Given the description of an element on the screen output the (x, y) to click on. 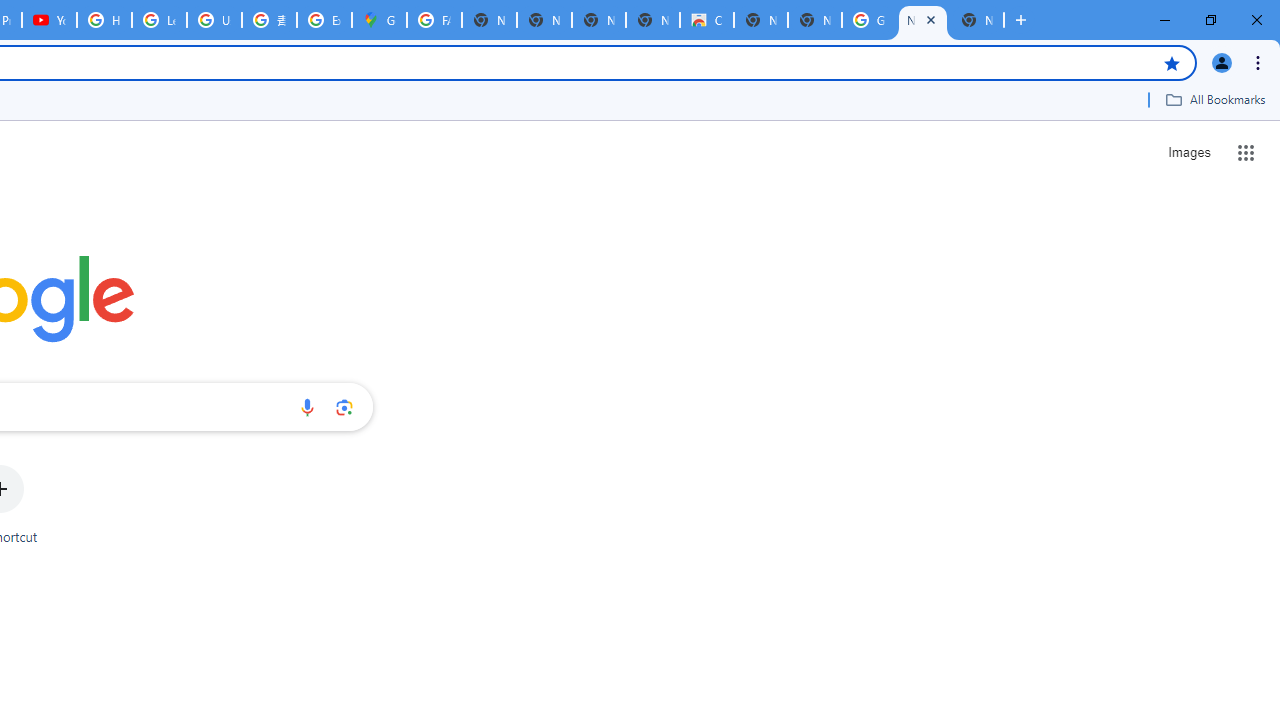
Google Images (868, 20)
Google Maps (379, 20)
YouTube (48, 20)
